Given the description of an element on the screen output the (x, y) to click on. 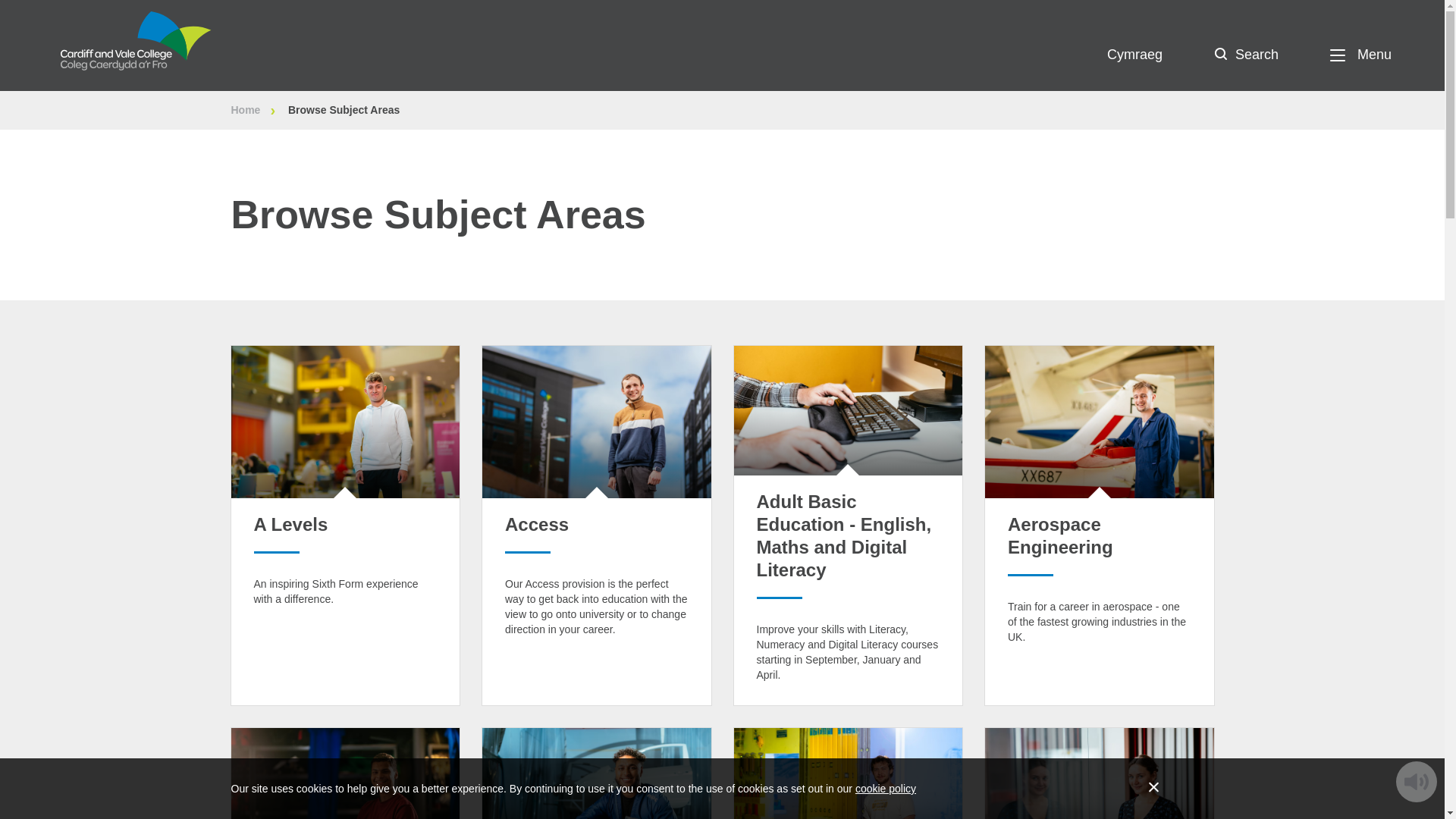
Aerospace Engineering (1060, 535)
Home (257, 110)
Listen with the ReachDeck Toolbar (1416, 781)
Adult Basic Education - English, Maths and Digital Literacy (844, 535)
LiveChat chat widget (32, 787)
Cymraeg (1133, 54)
Access (537, 524)
A Levels (290, 524)
